Given the description of an element on the screen output the (x, y) to click on. 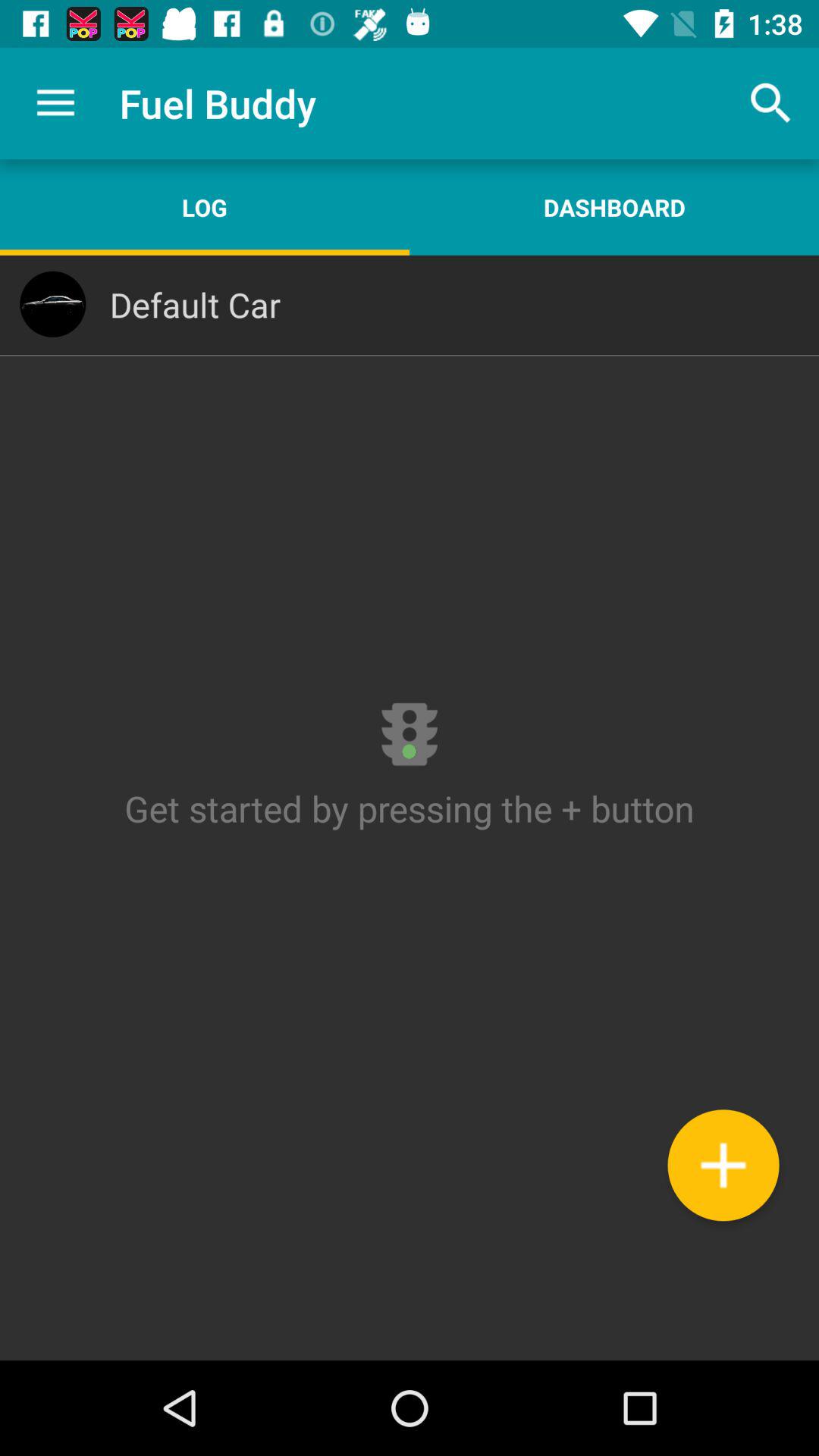
scroll until the dashboard item (614, 207)
